Given the description of an element on the screen output the (x, y) to click on. 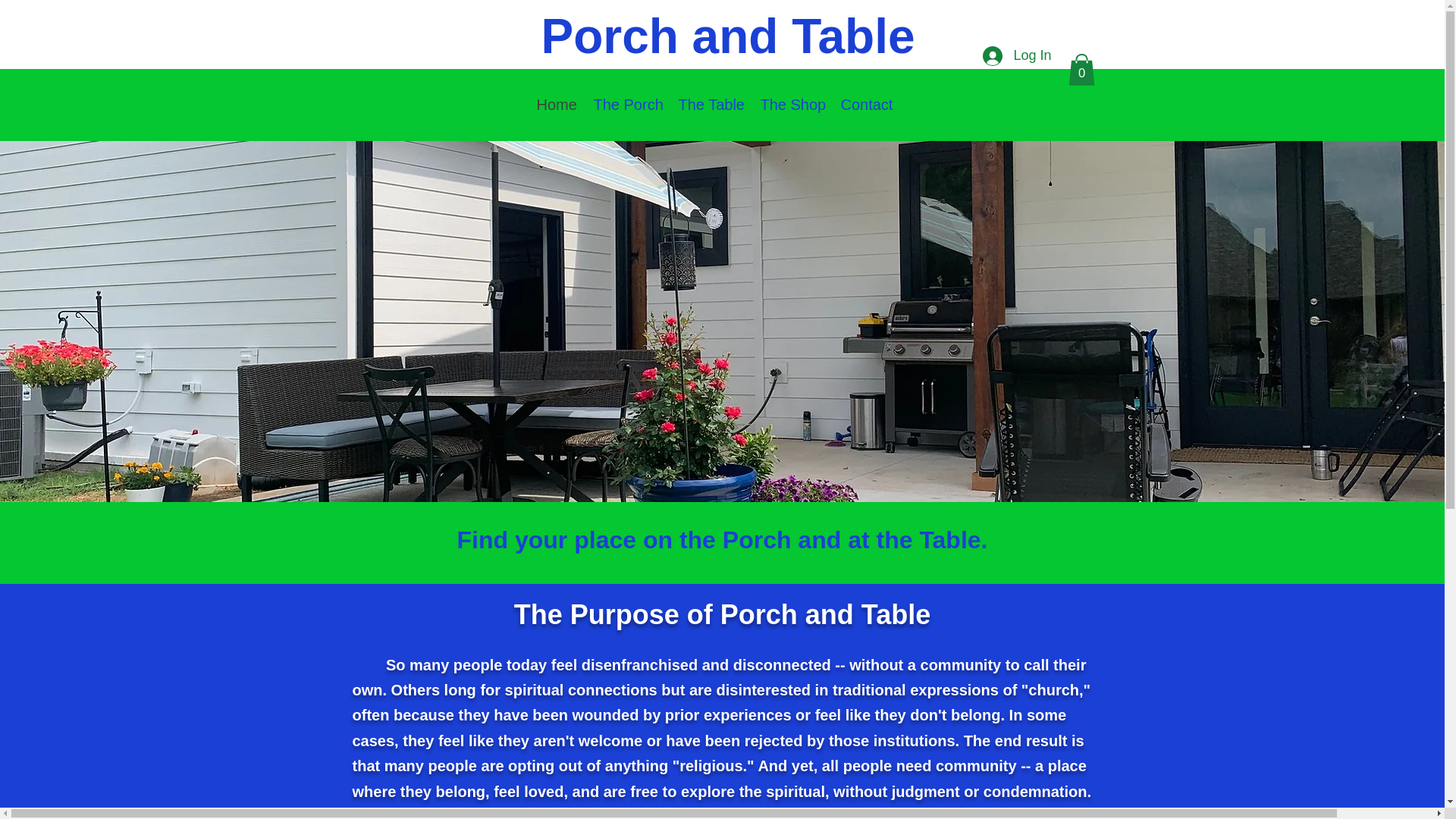
Contact (868, 104)
The Table (710, 104)
The Porch (627, 104)
Log In (1016, 55)
The Shop (792, 104)
